Given the description of an element on the screen output the (x, y) to click on. 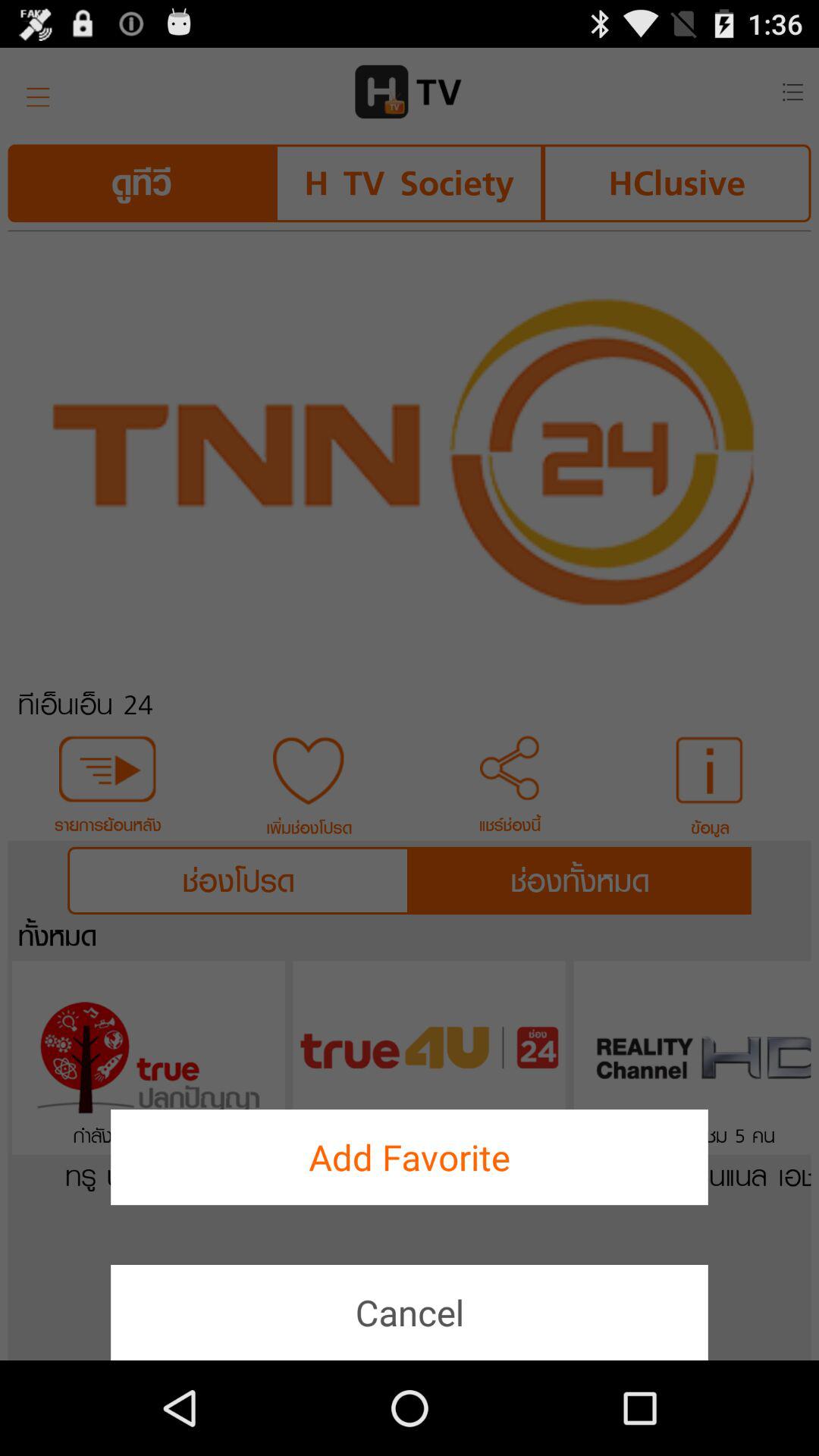
select the button above cancel icon (409, 1157)
